Given the description of an element on the screen output the (x, y) to click on. 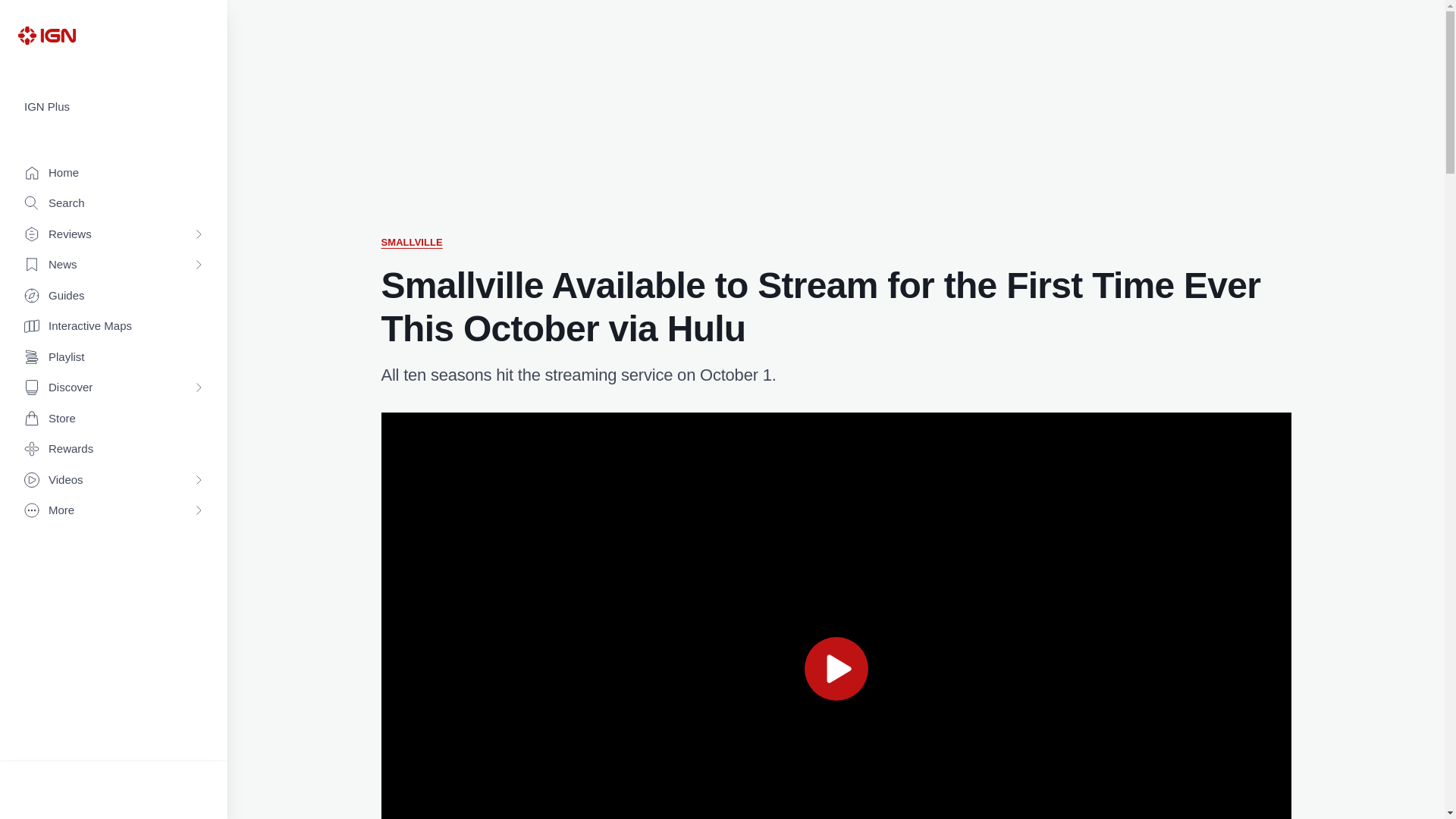
Guides (113, 295)
Rewards (113, 449)
More (113, 510)
Playlist (113, 357)
Search (113, 203)
IGN Logo (46, 35)
News (113, 265)
Rewards (113, 449)
IGN Plus (113, 107)
Guides (113, 295)
